Given the description of an element on the screen output the (x, y) to click on. 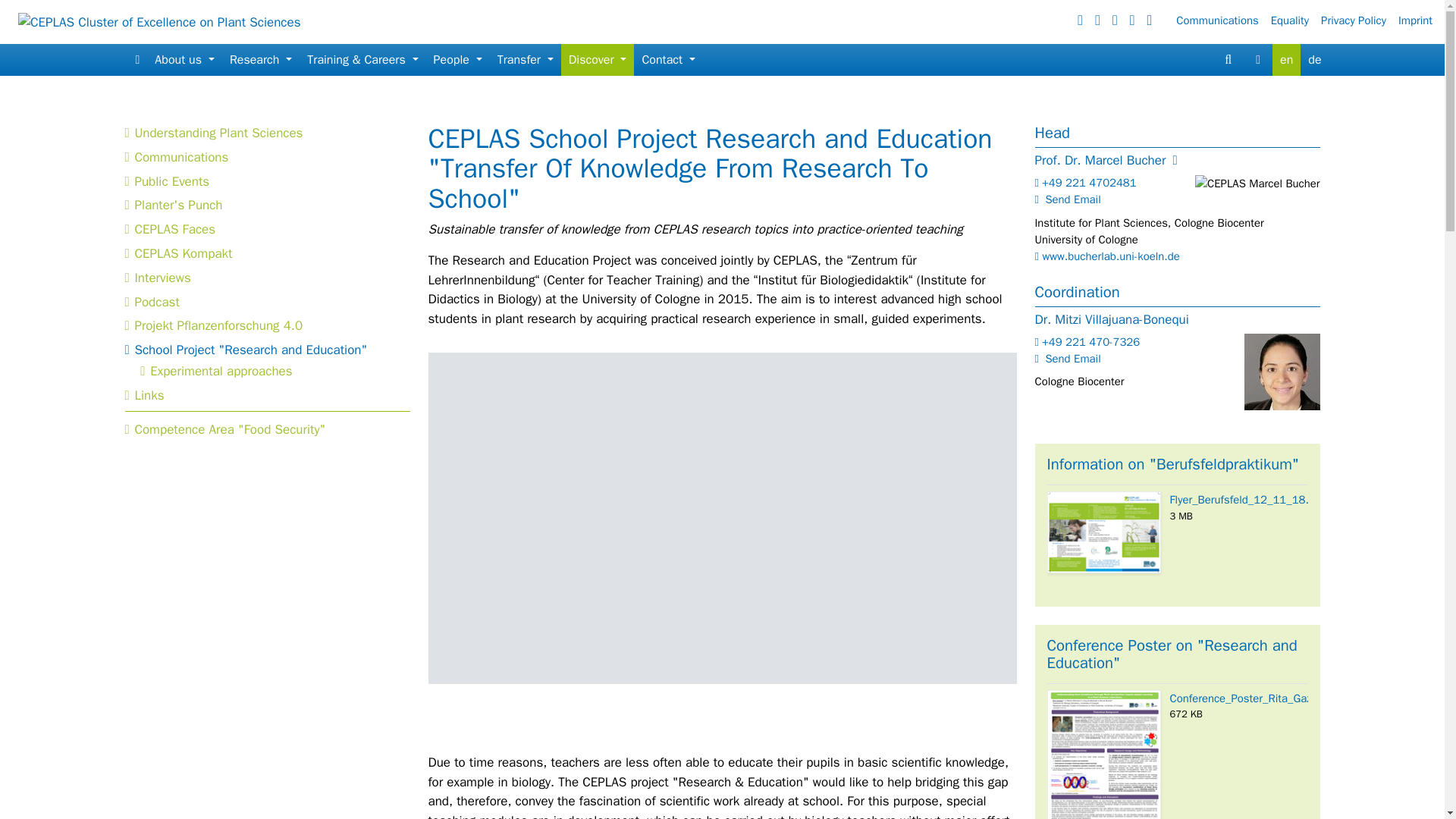
Communications (1222, 20)
About us (184, 60)
About us (184, 60)
Equality (1295, 20)
Equality (1295, 20)
Privacy Policy (1358, 20)
Communications (1222, 20)
Research (260, 60)
Research (260, 60)
Privacy Policy (1358, 20)
